Given the description of an element on the screen output the (x, y) to click on. 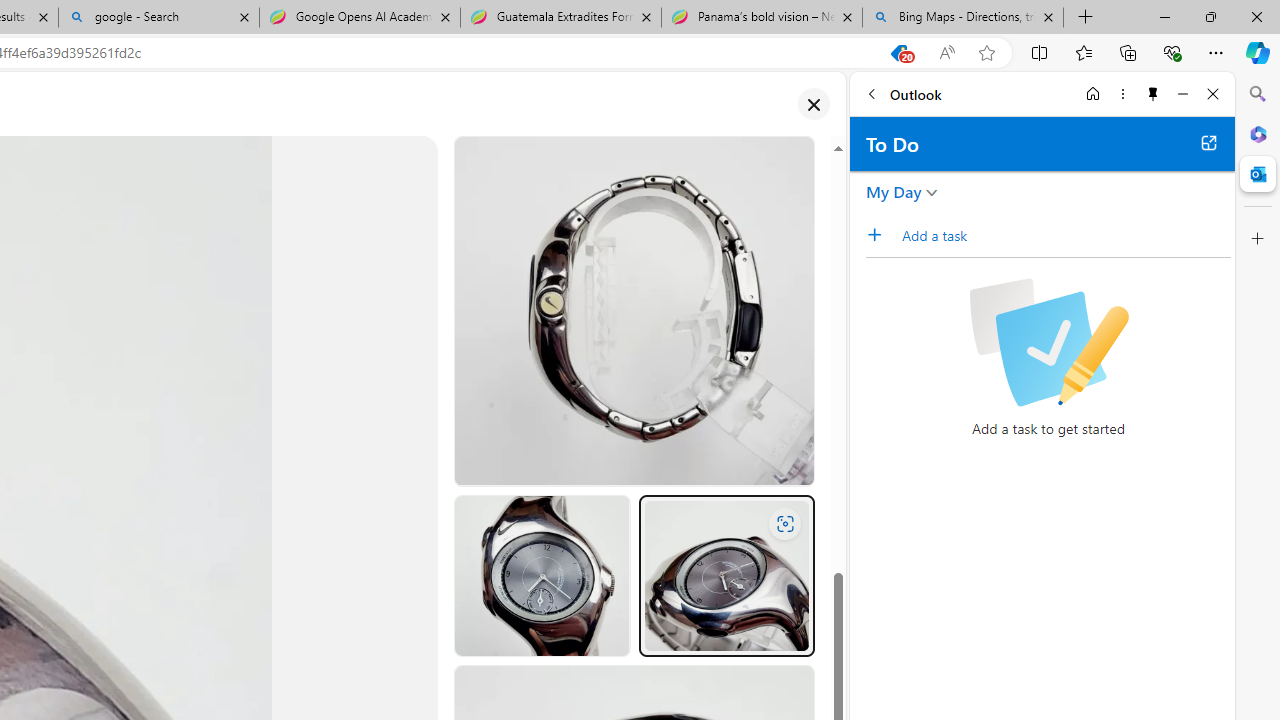
Open in new tab (1208, 142)
Add a task (1065, 235)
Add a task (881, 235)
Unpin side pane (1153, 93)
